Given the description of an element on the screen output the (x, y) to click on. 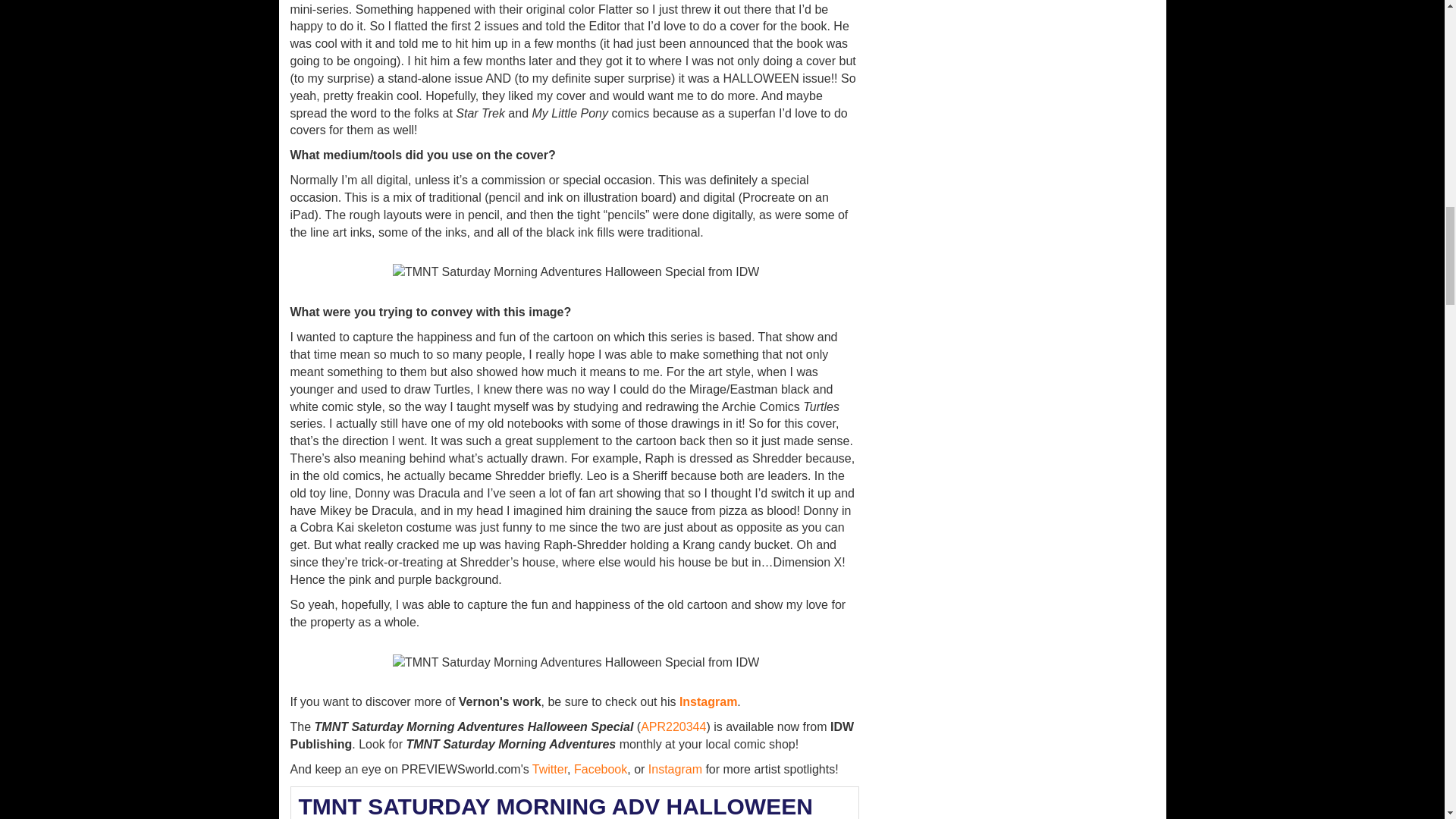
APR220344 (673, 726)
Twitter (549, 768)
Facebook (600, 768)
Instagram (674, 768)
Instagram (707, 701)
